Given the description of an element on the screen output the (x, y) to click on. 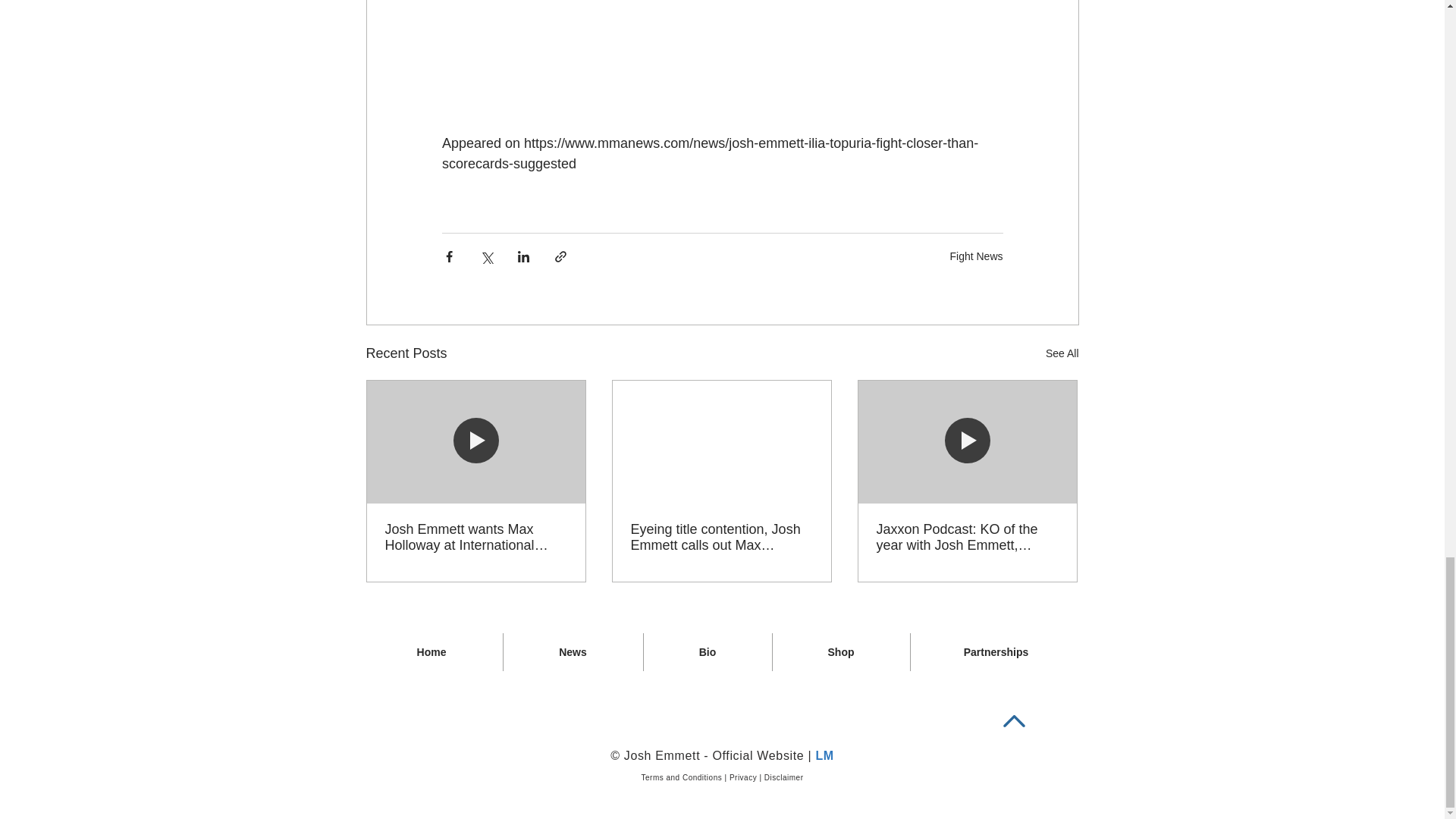
Fight News (976, 256)
See All (1061, 353)
Home (431, 651)
Shop (839, 651)
Bio (707, 651)
News (573, 651)
